Given the description of an element on the screen output the (x, y) to click on. 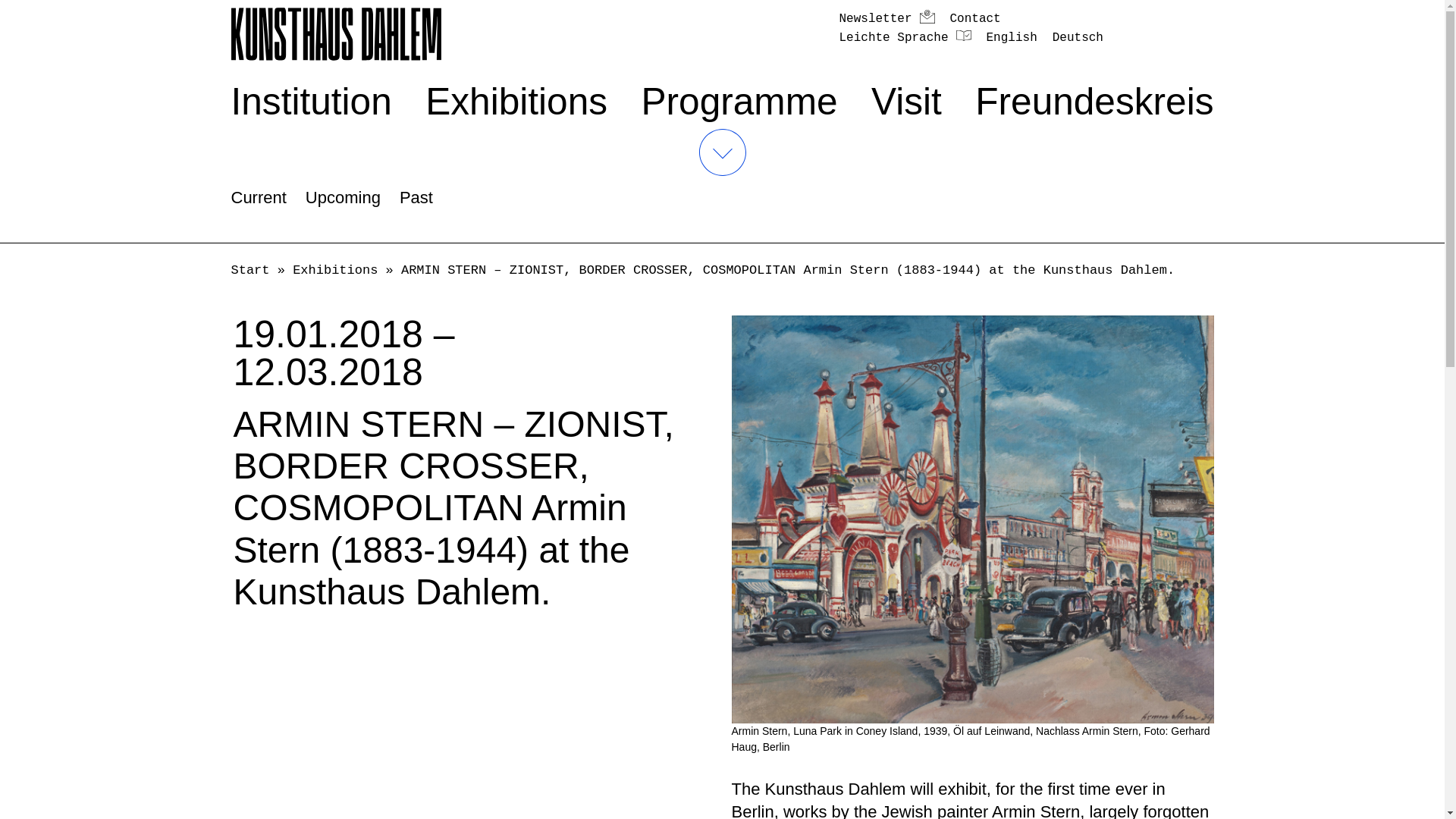
Deutsch (1077, 38)
Contact (974, 18)
Newsletter (886, 18)
Programme (740, 102)
Current (257, 197)
English (1011, 38)
English (1011, 38)
Deutsch (1077, 38)
Leichte Sprache (904, 38)
Upcoming (342, 197)
Exhibitions (516, 102)
Visit (906, 102)
Past (415, 197)
Institution (310, 102)
Freundeskreis (1093, 102)
